Given the description of an element on the screen output the (x, y) to click on. 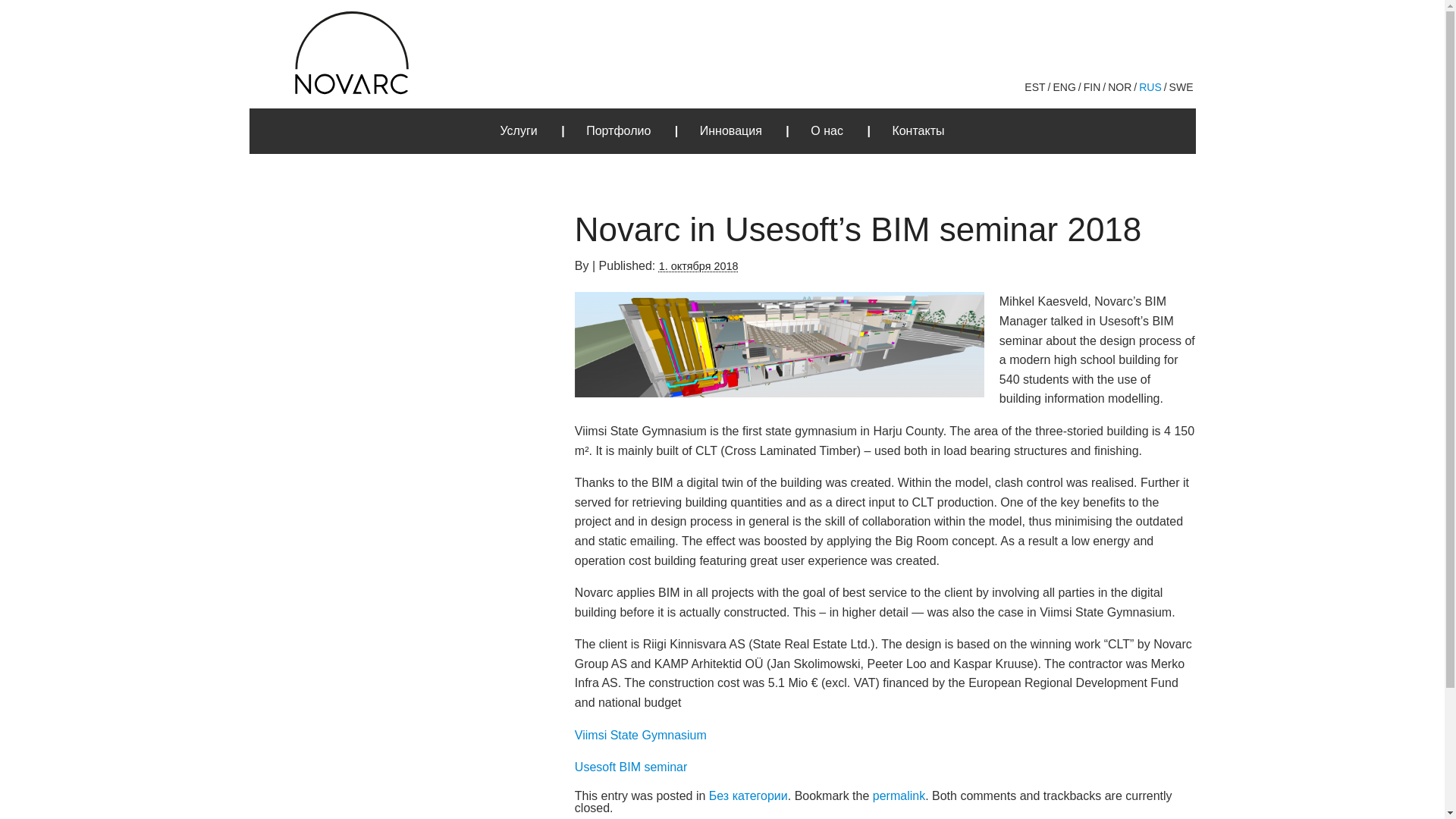
Usesoft BIM seminar (631, 766)
Viimsi State Gymnasium (640, 735)
ENG (1063, 86)
permalink (898, 795)
EST (1034, 86)
NOR (1119, 86)
FIN (1092, 86)
